Given the description of an element on the screen output the (x, y) to click on. 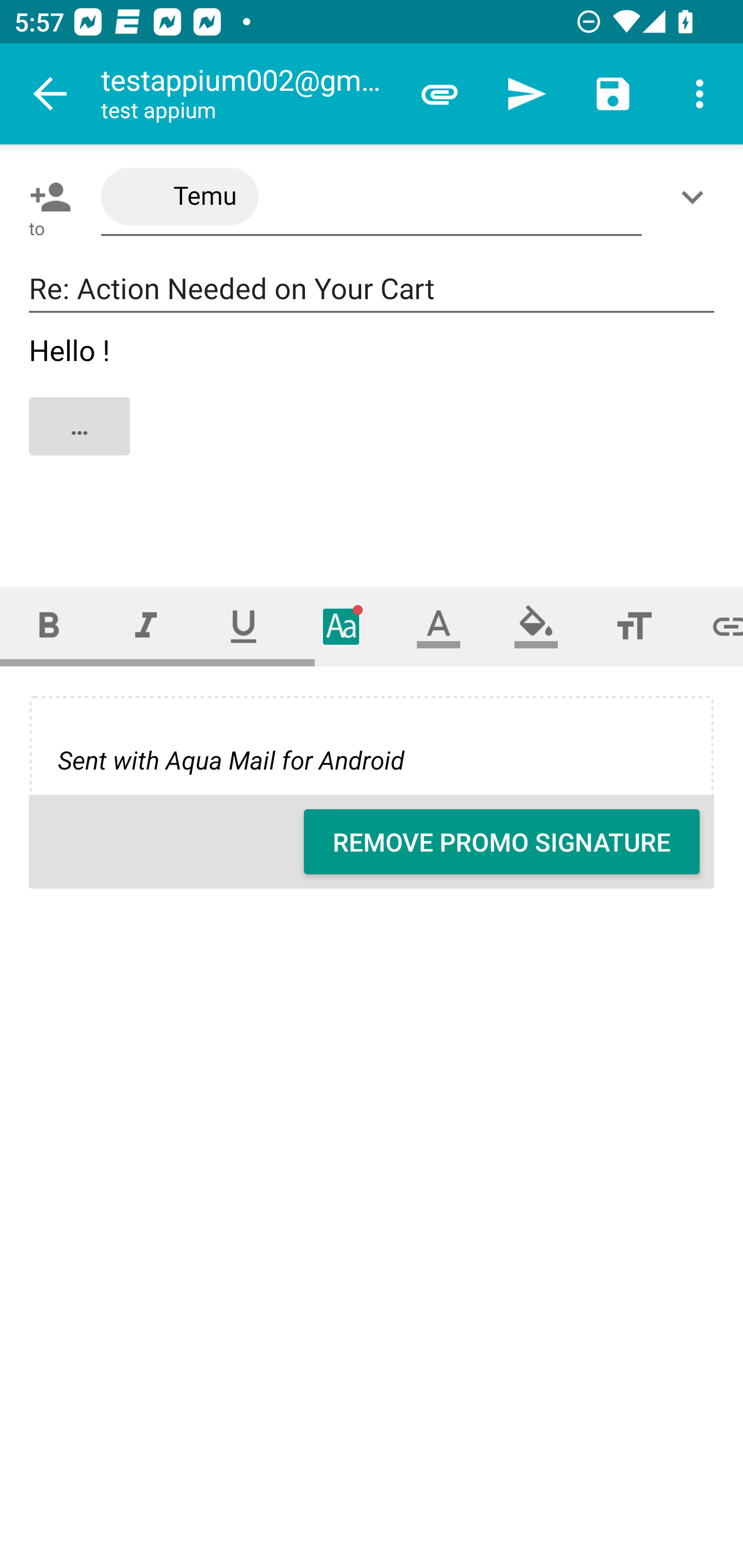
Navigate up (50, 93)
testappium002@gmail.com test appium (248, 93)
Attach (439, 93)
Send (525, 93)
Save (612, 93)
More options (699, 93)
Temu <temu@shop.temuofficial.com>,  (371, 197)
Pick contact: To (46, 196)
Show/Add CC/BCC (696, 196)
Re: Action Needed on Your Cart (371, 288)
Hello !
…
 (372, 442)
Bold (48, 626)
Italic (145, 626)
Underline (243, 626)
Typeface (font) (341, 626)
Text color (438, 626)
Fill color (536, 626)
Font size (633, 626)
Set link (712, 626)
REMOVE PROMO SIGNATURE (501, 841)
